Given the description of an element on the screen output the (x, y) to click on. 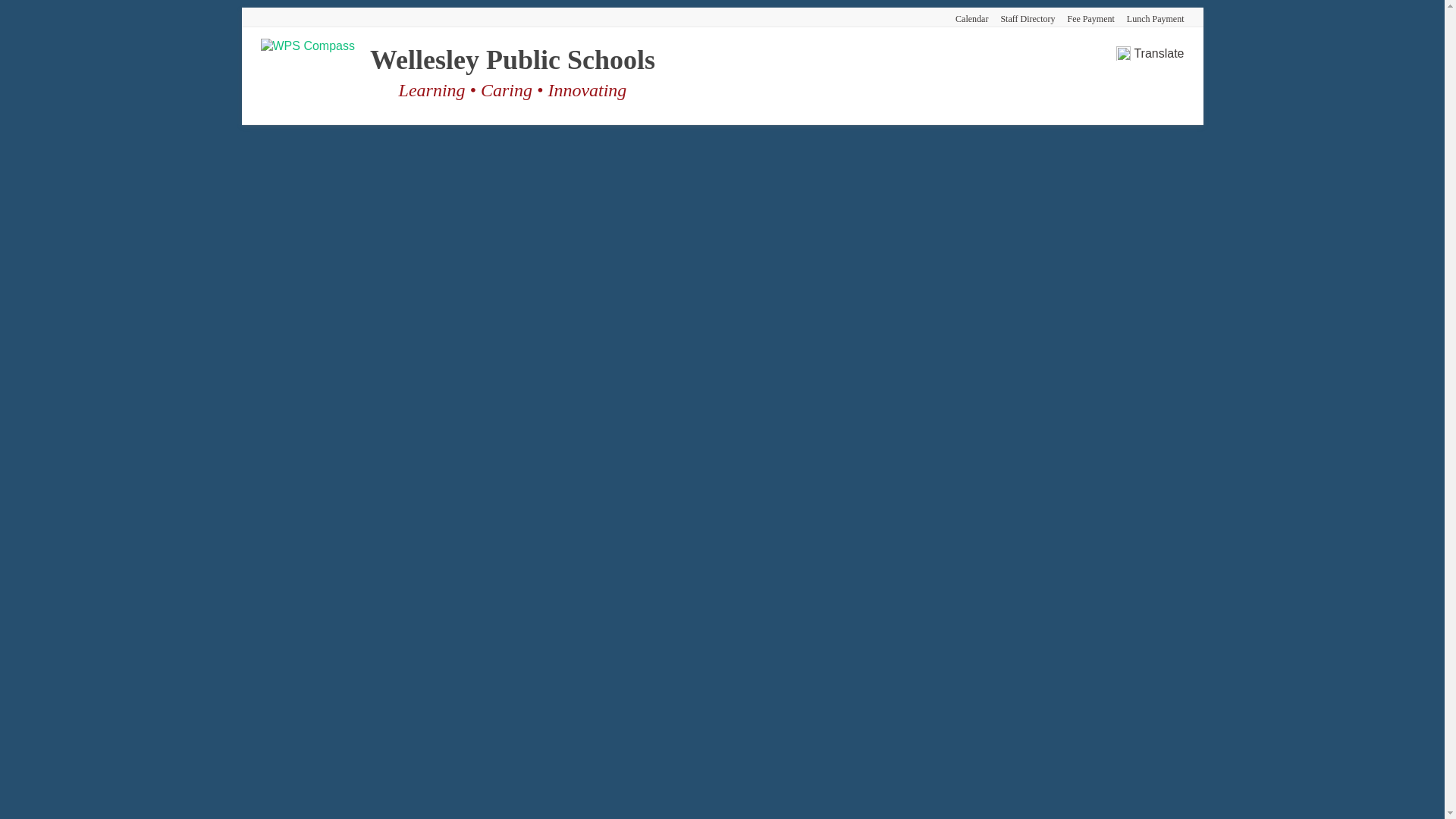
Fee Payment (1085, 16)
Staff Directory (1021, 16)
Lunch Payment (1150, 16)
Wellesley Public Schools (512, 60)
Wellesley Public Schools (512, 60)
Calendar (965, 16)
